Given the description of an element on the screen output the (x, y) to click on. 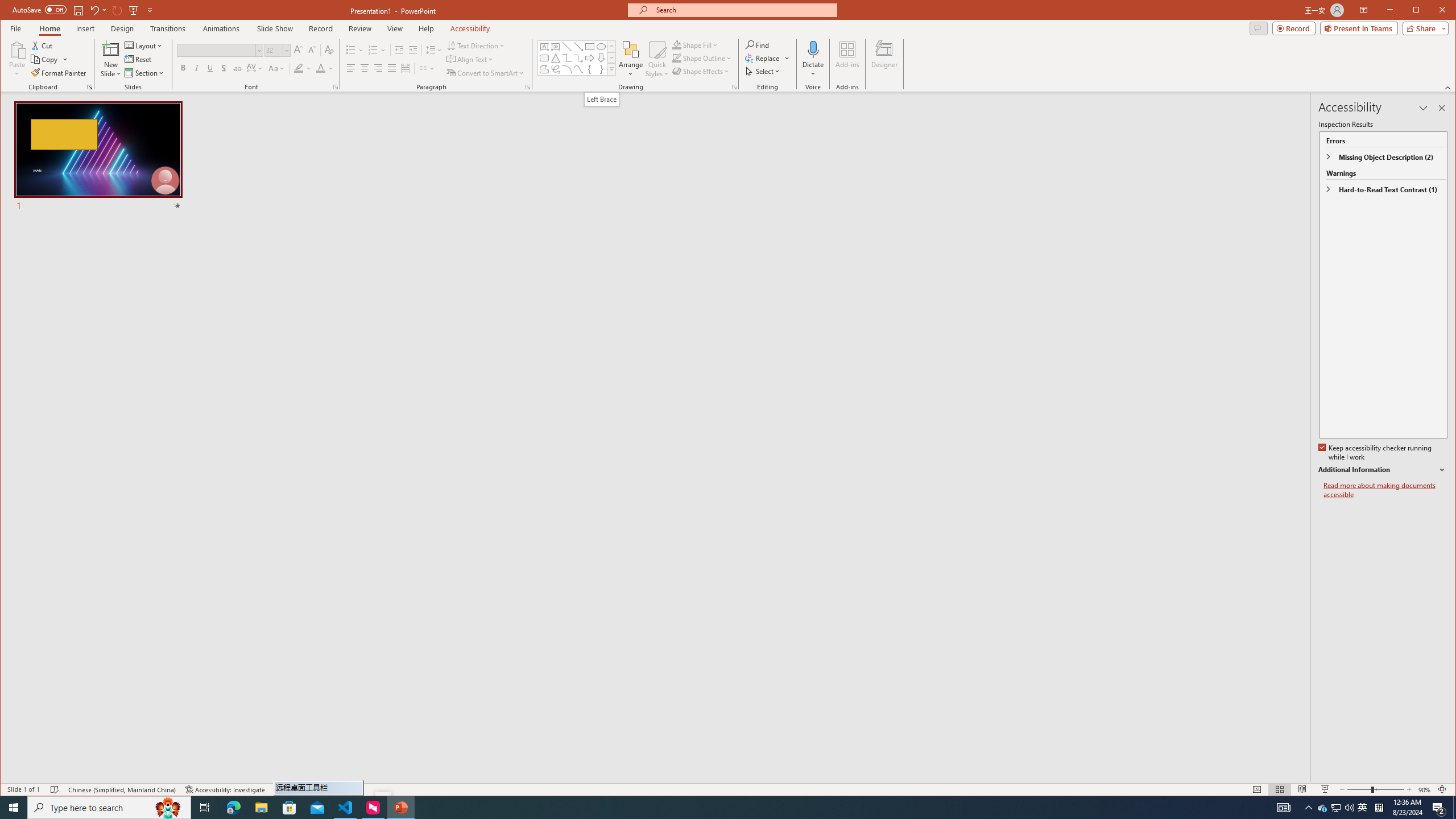
Zoom 90% (1424, 789)
